Given the description of an element on the screen output the (x, y) to click on. 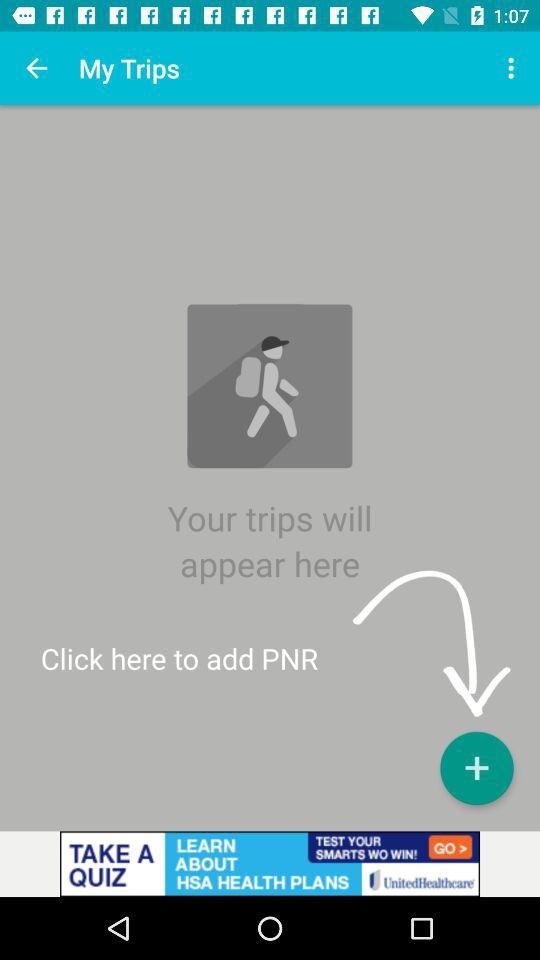
add option (476, 768)
